Given the description of an element on the screen output the (x, y) to click on. 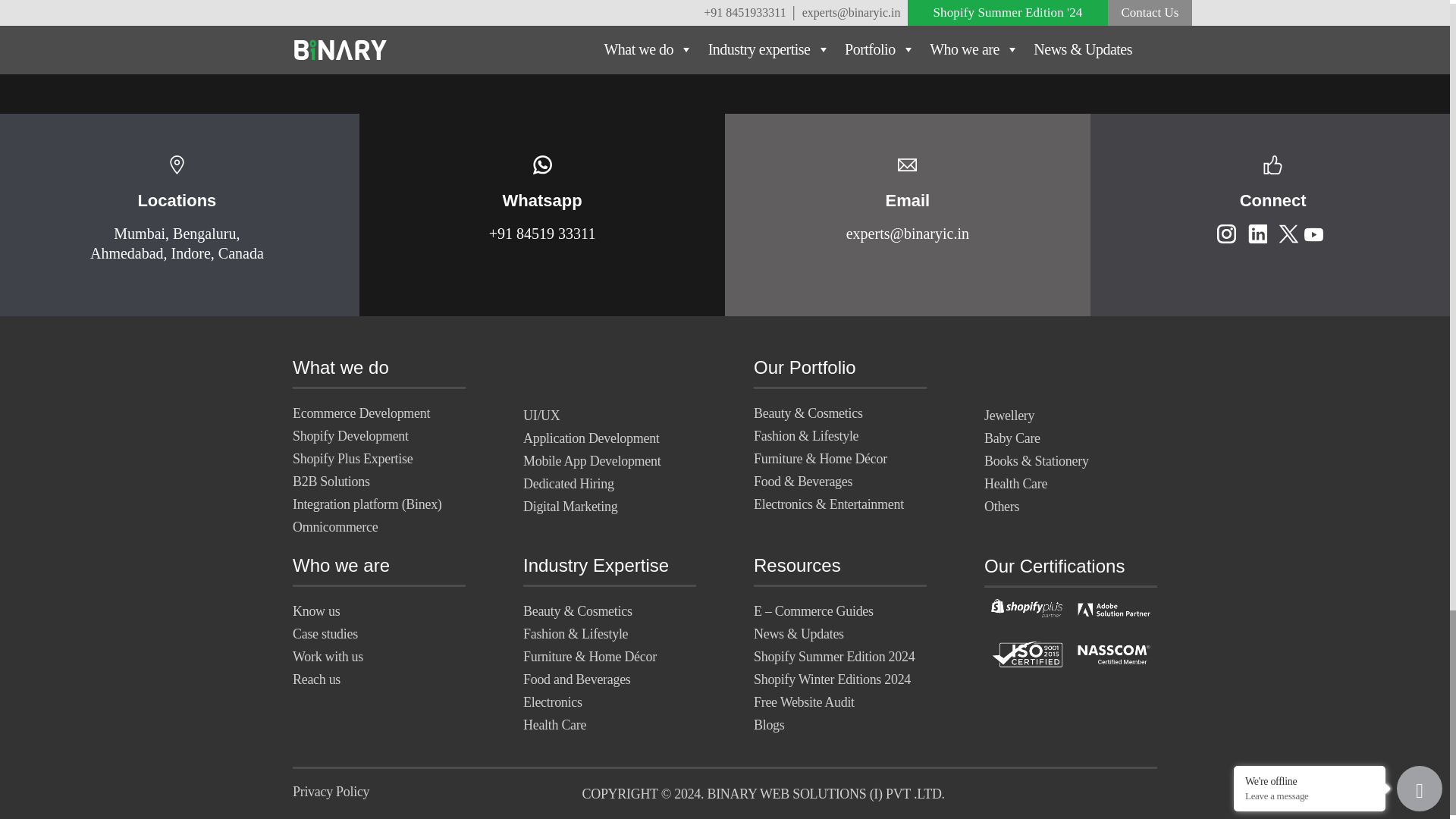
Submit (725, 9)
Submit (725, 9)
